Given the description of an element on the screen output the (x, y) to click on. 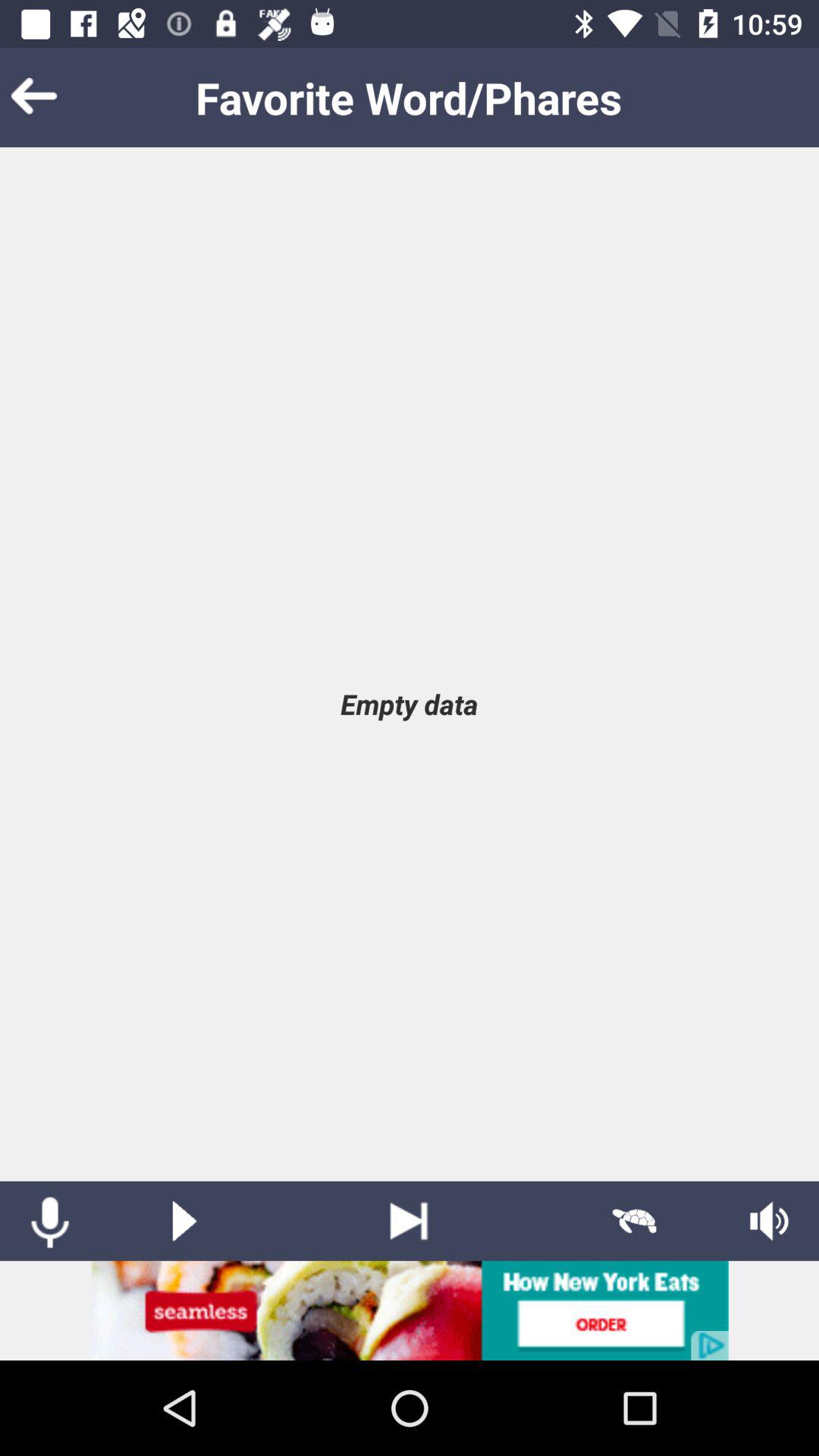
bok putton (57, 97)
